Given the description of an element on the screen output the (x, y) to click on. 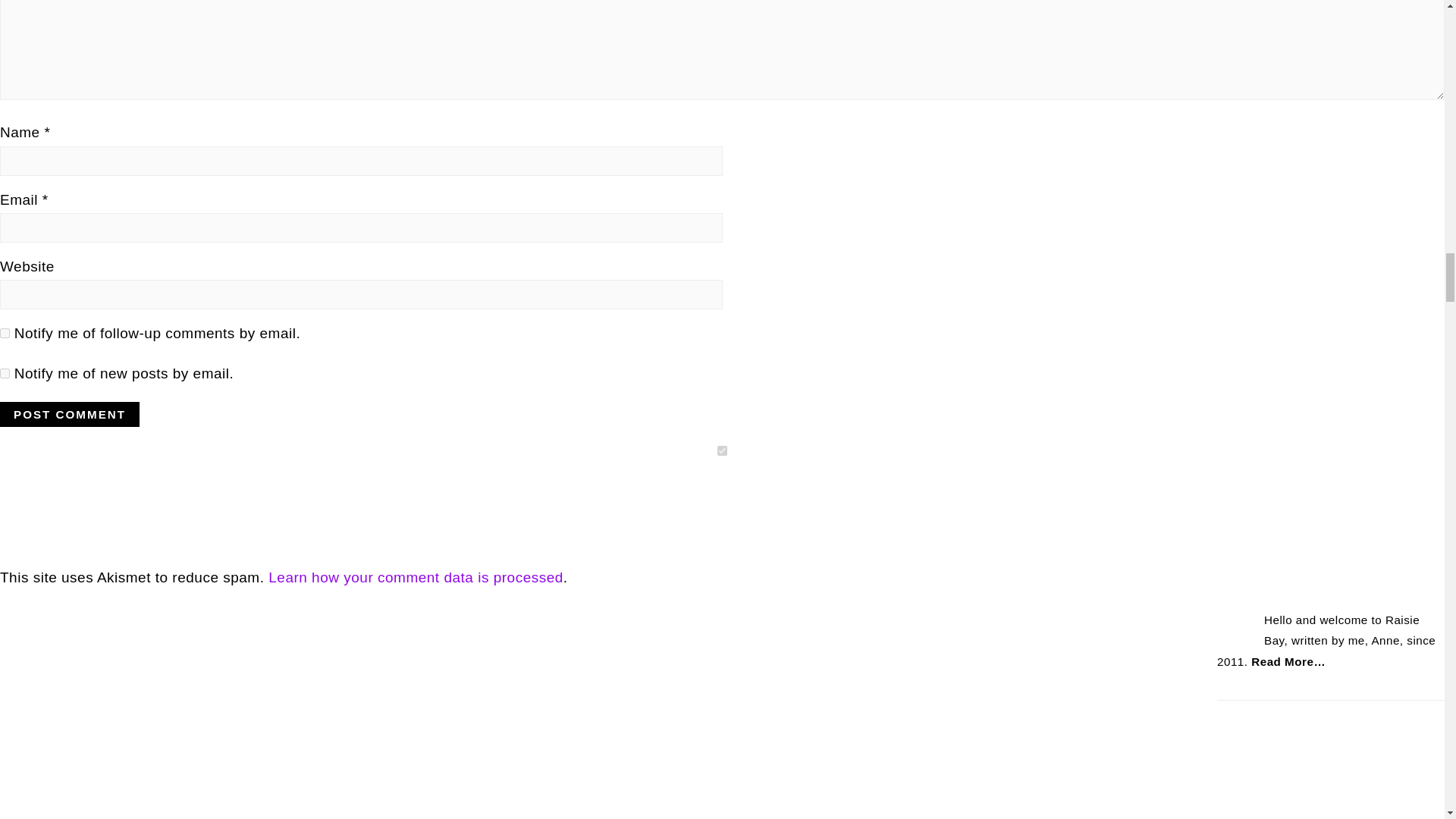
Post Comment (69, 414)
Show more posts (151, 497)
subscribe (5, 333)
subscribe (5, 373)
CommentLuv is enabled (70, 495)
